Given the description of an element on the screen output the (x, y) to click on. 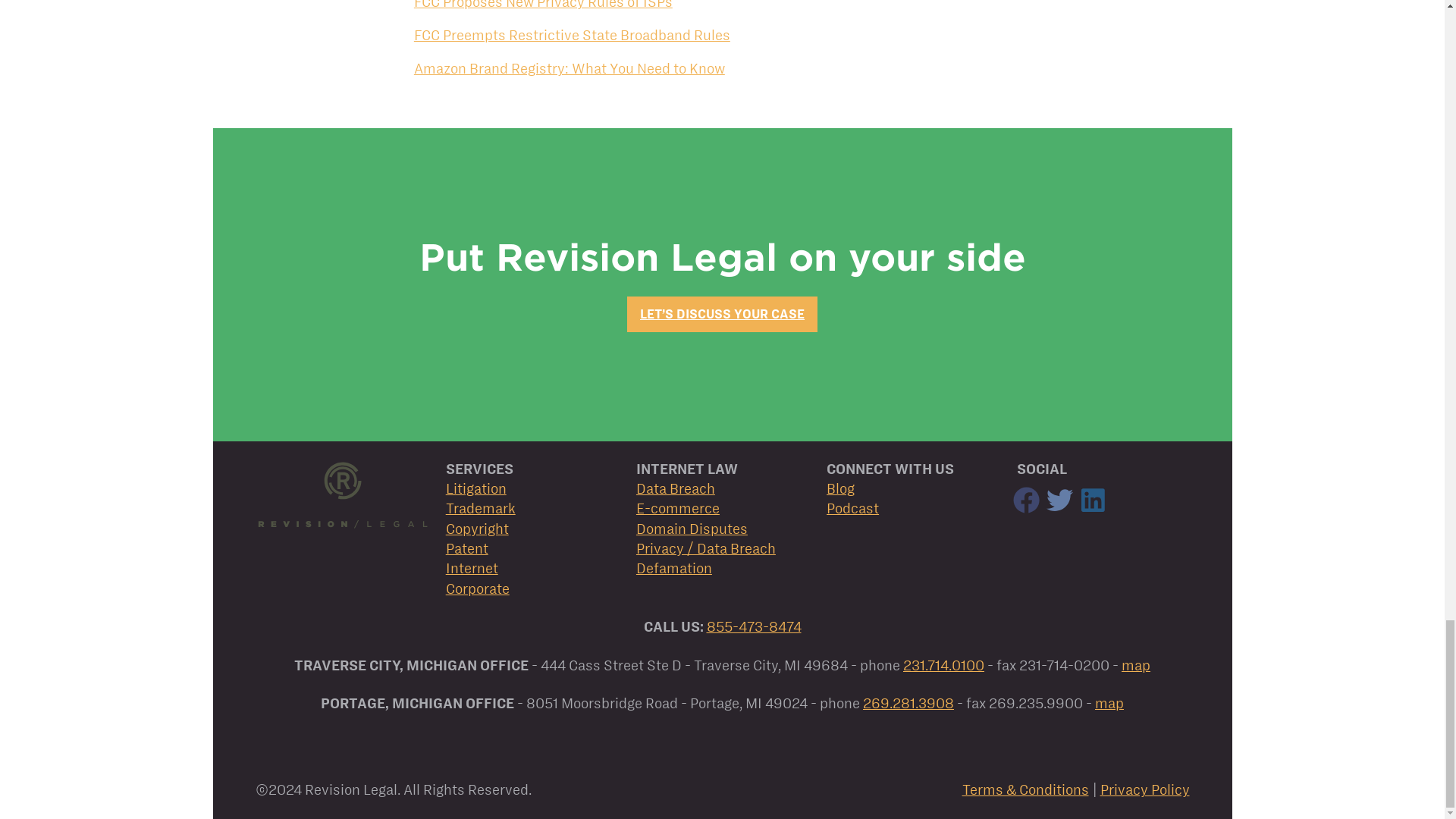
FCC Proposes New Privacy Rules of ISPs (542, 4)
Litigation (475, 488)
Internet (471, 568)
Corporate (477, 588)
Amazon Brand Registry: What You Need to Know (569, 68)
E-commerce (677, 508)
Trademark (480, 508)
FCC Preempts Restrictive State Broadband Rules (571, 35)
Data Breach (675, 488)
Domain Disputes (692, 528)
Copyright (476, 528)
Blog (840, 488)
Podcast (853, 508)
Defamation (673, 568)
Patent (466, 548)
